Given the description of an element on the screen output the (x, y) to click on. 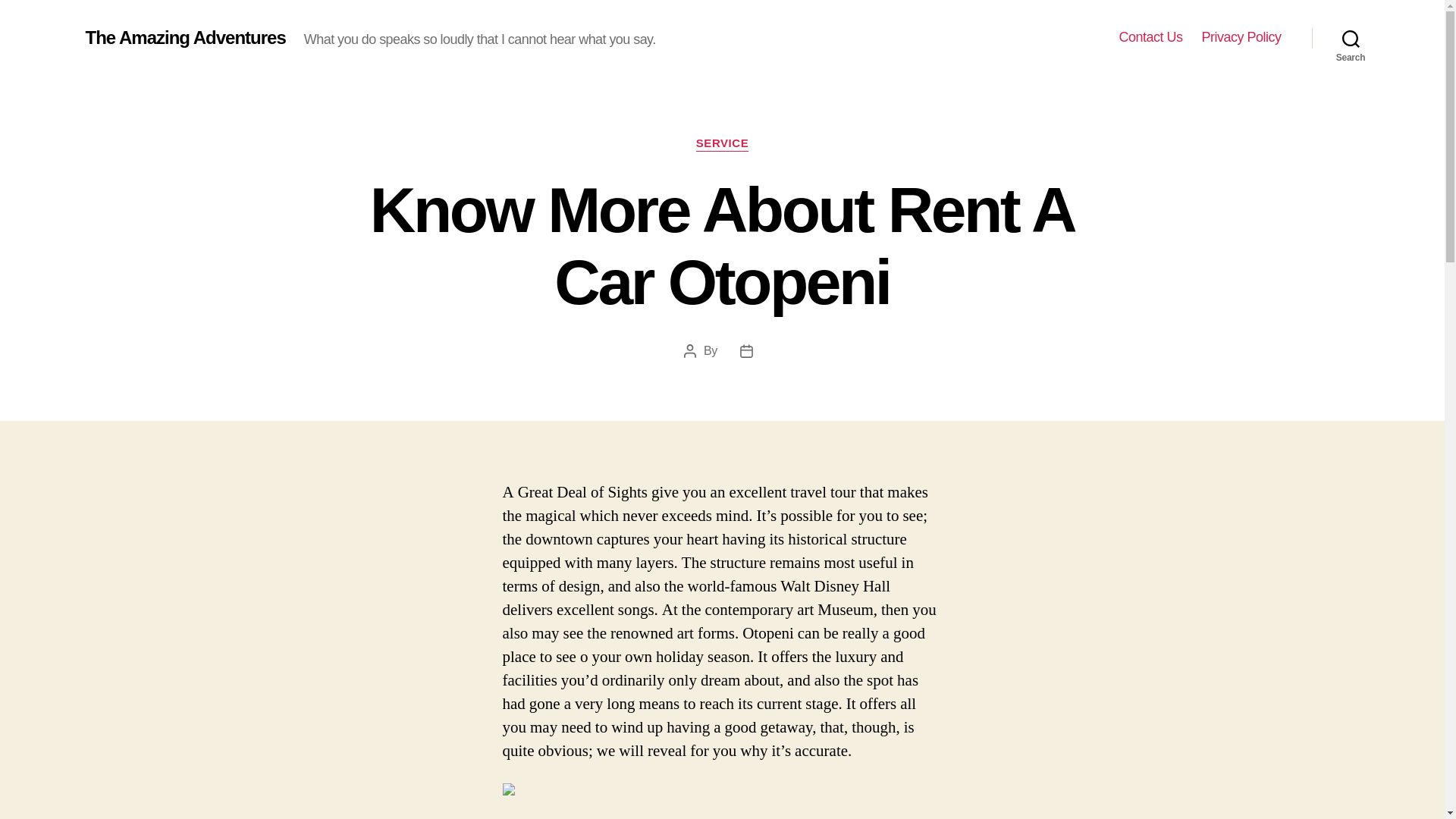
Contact Us (1150, 37)
Search (1350, 37)
SERVICE (721, 143)
The Amazing Adventures (184, 37)
Privacy Policy (1241, 37)
